Given the description of an element on the screen output the (x, y) to click on. 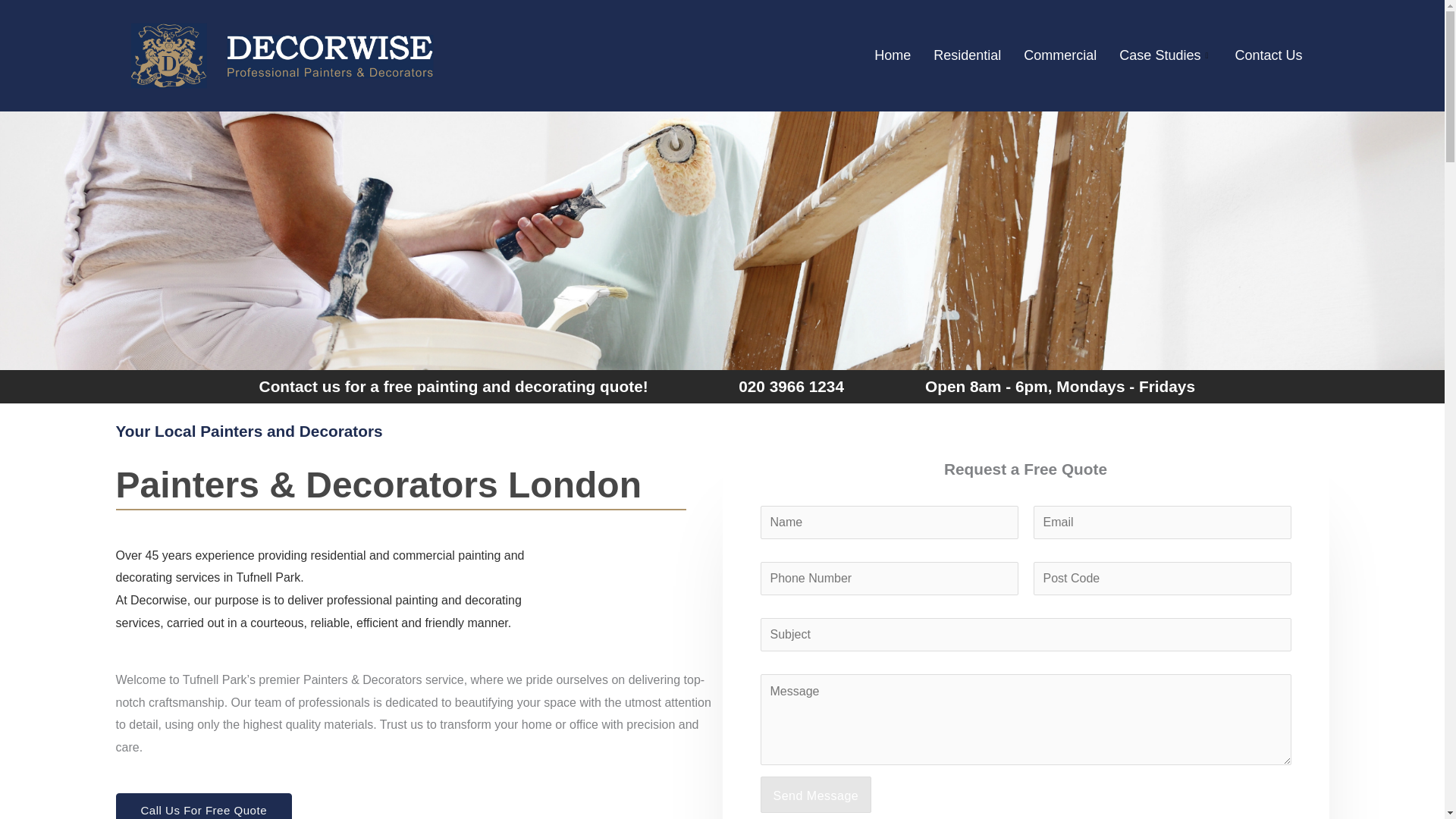
Commercial (1059, 55)
Send Message (815, 794)
Case Studies (1165, 55)
Residential (966, 55)
Call Us For Free Quote (203, 806)
Contact Us (1268, 55)
Home (892, 55)
020 3966 1234 (791, 385)
